Given the description of an element on the screen output the (x, y) to click on. 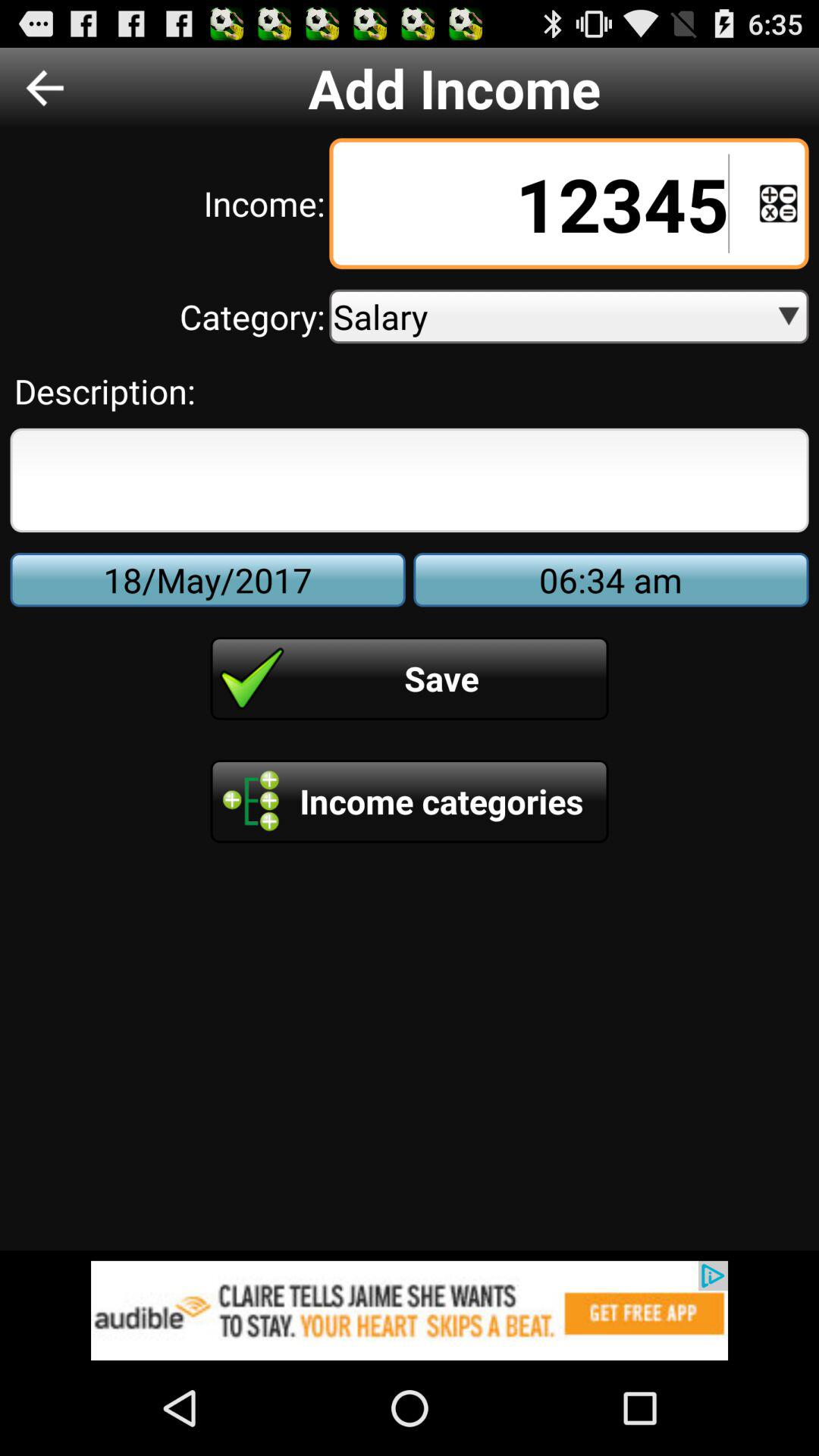
go back (44, 87)
